Given the description of an element on the screen output the (x, y) to click on. 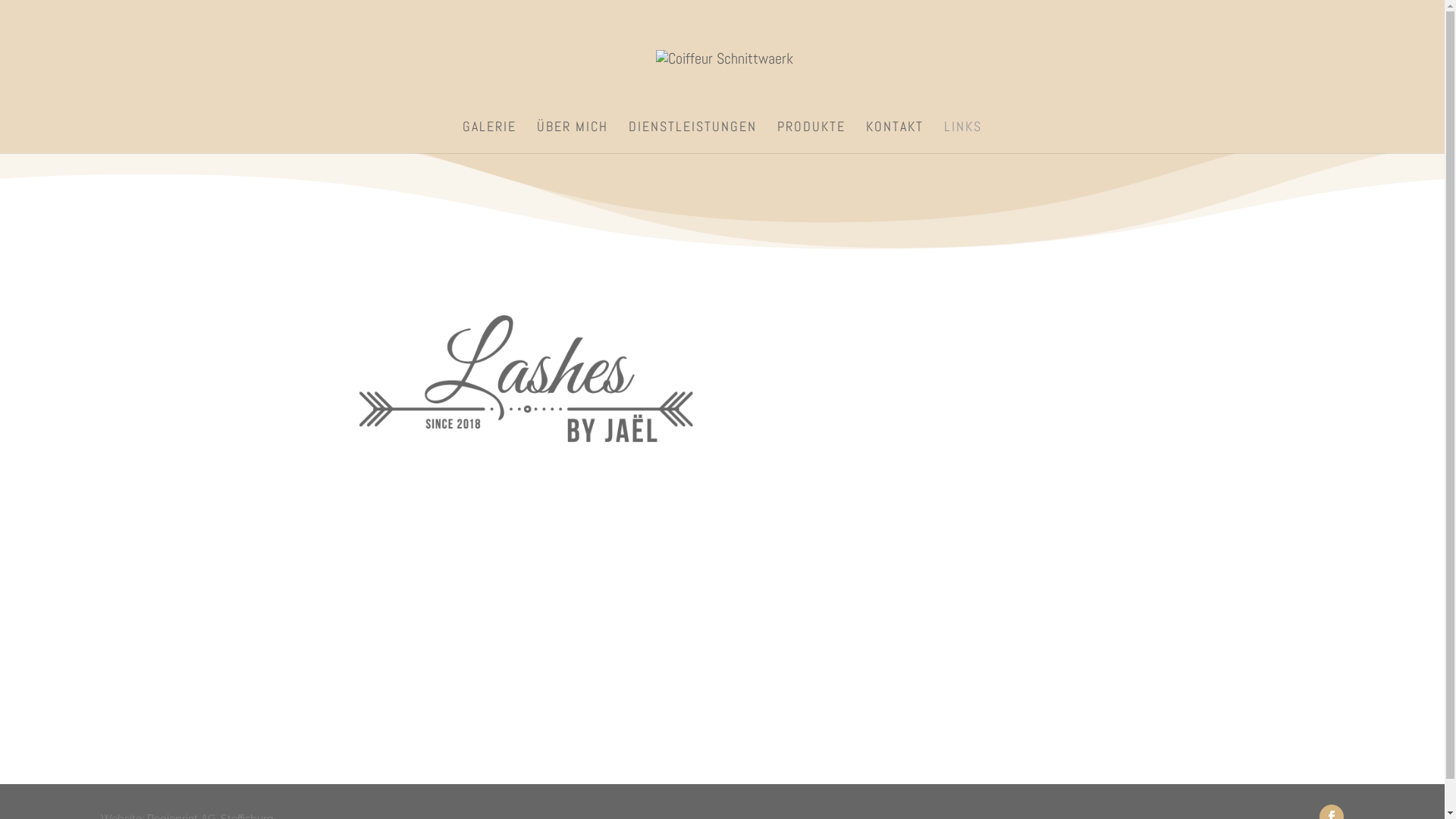
KONTAKT Element type: text (894, 137)
LINKS Element type: text (963, 137)
DIENSTLEISTUNGEN Element type: text (692, 137)
GALERIE Element type: text (489, 137)
PRODUKTE Element type: text (811, 137)
